Given the description of an element on the screen output the (x, y) to click on. 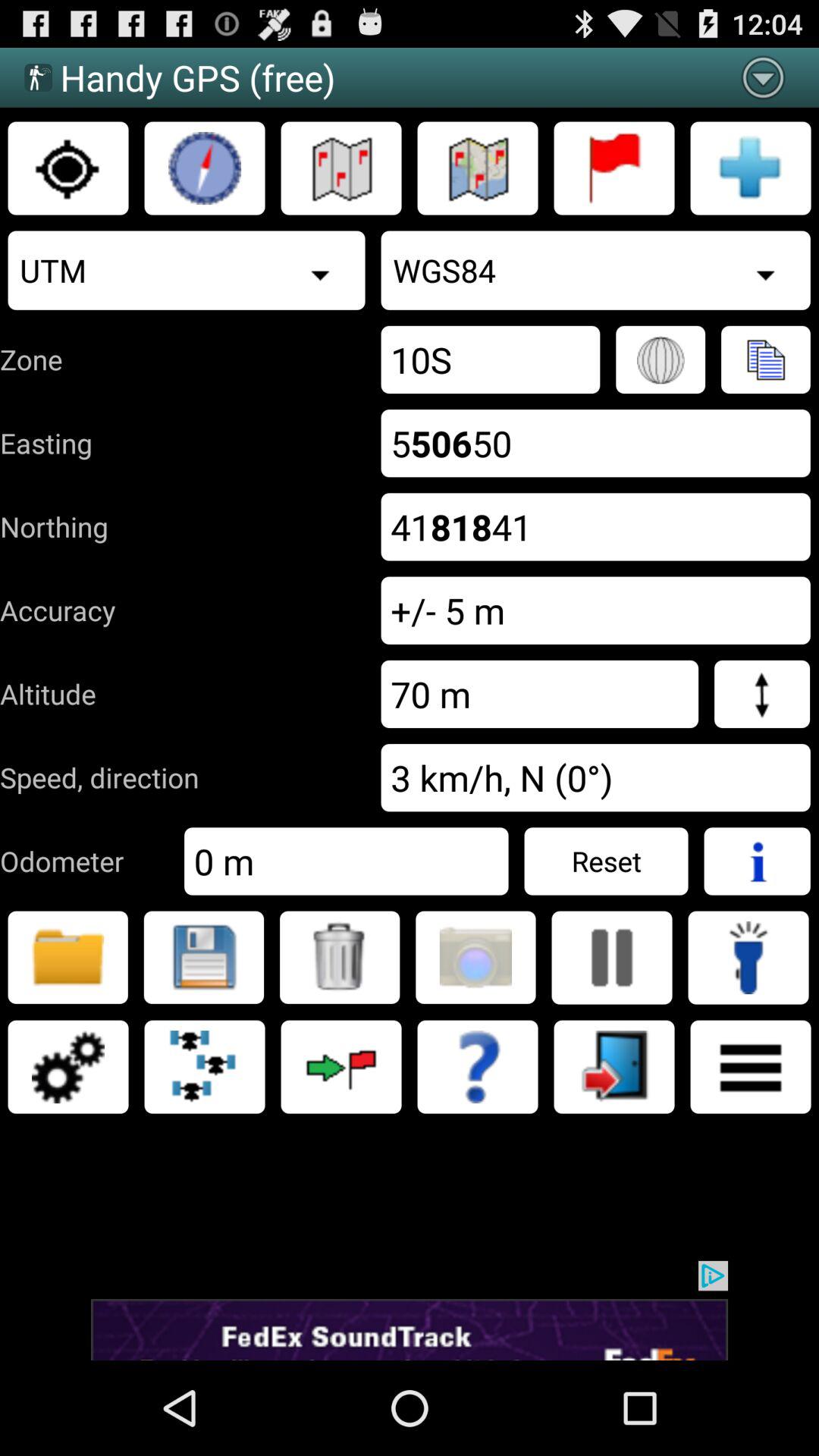
store messenger (67, 957)
